Given the description of an element on the screen output the (x, y) to click on. 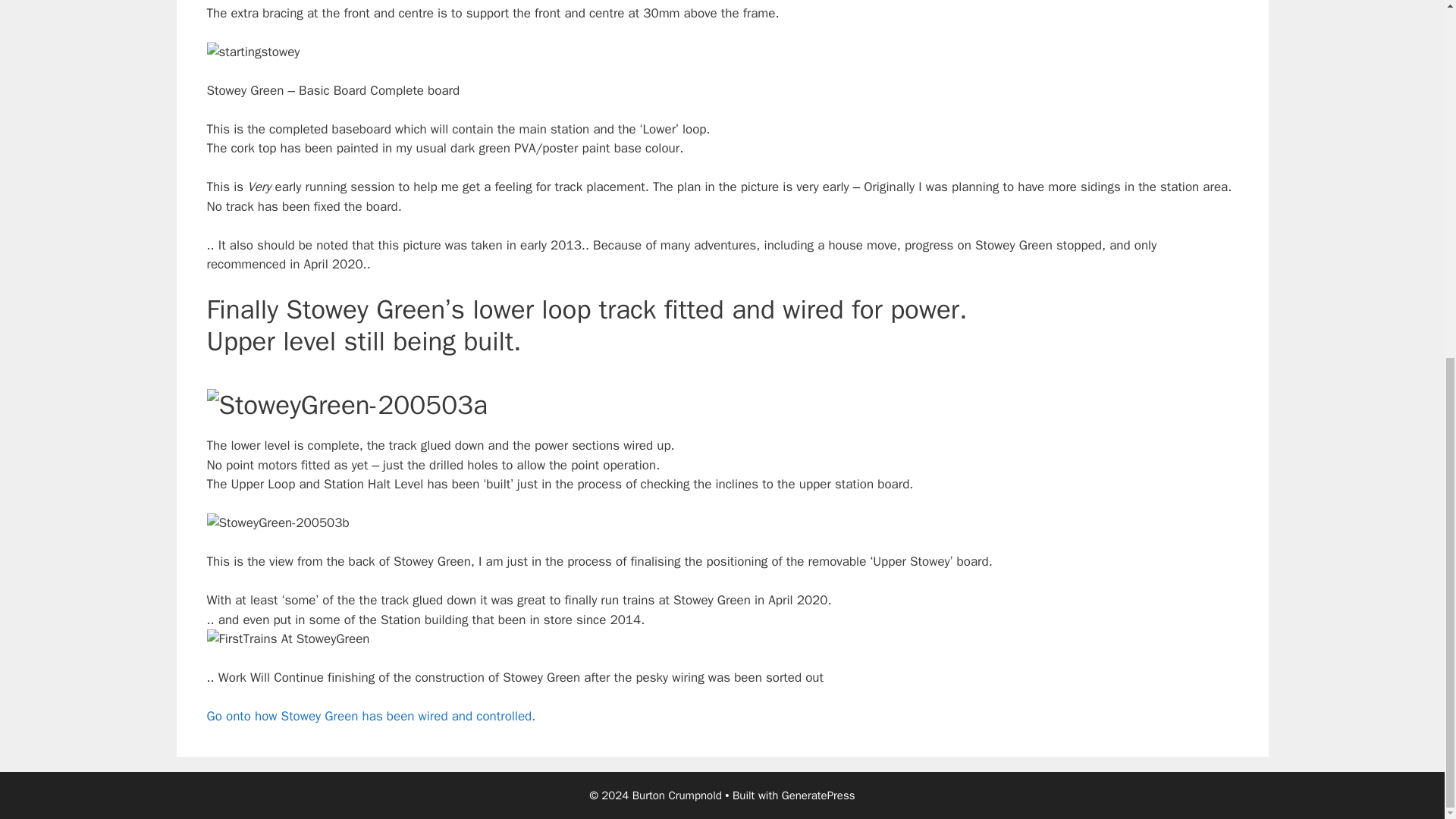
Go onto how Stowey Green has been wired and controlled. (370, 715)
GeneratePress (818, 795)
